Given the description of an element on the screen output the (x, y) to click on. 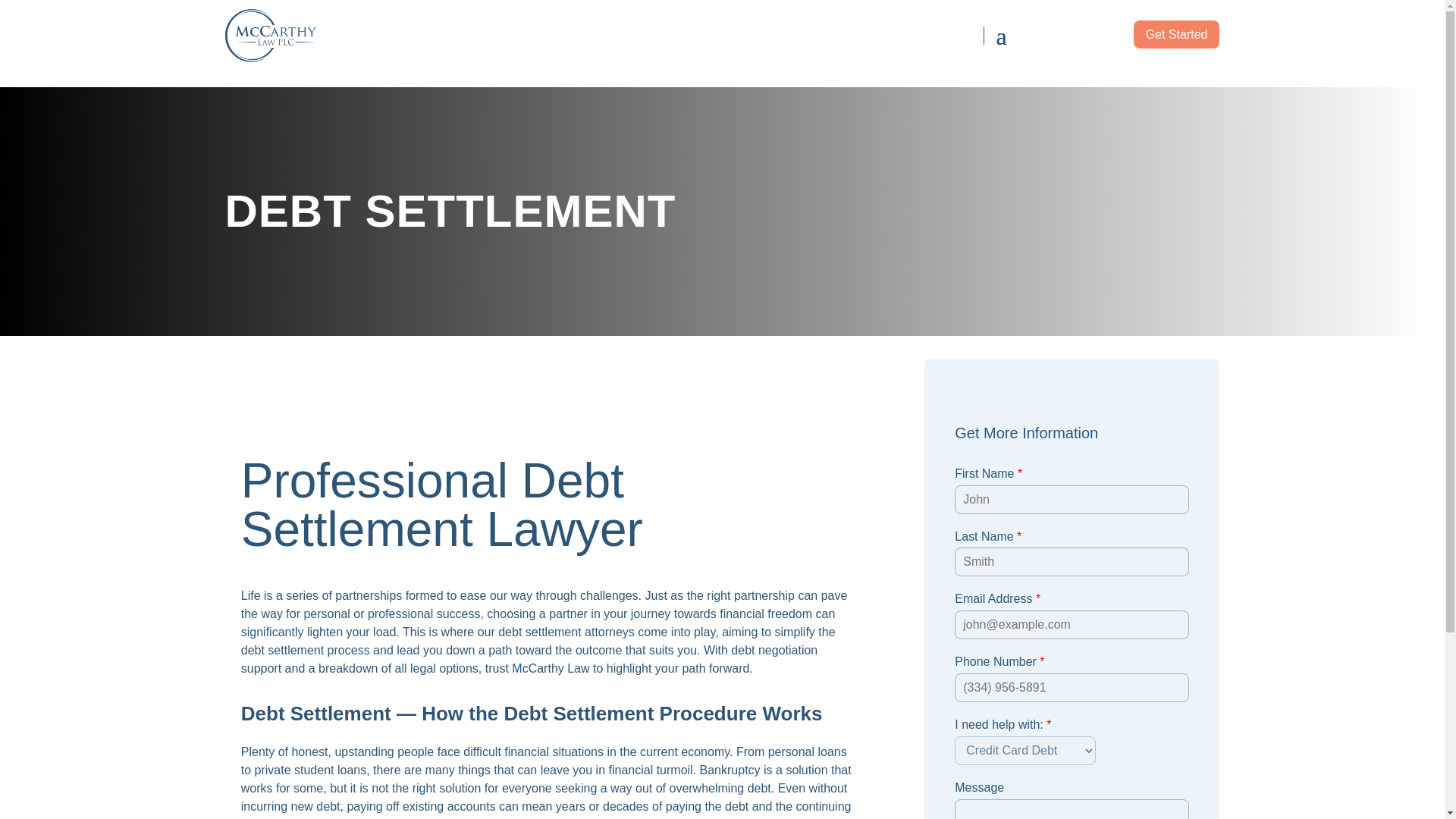
Get Started (1177, 34)
Home (328, 35)
